Given the description of an element on the screen output the (x, y) to click on. 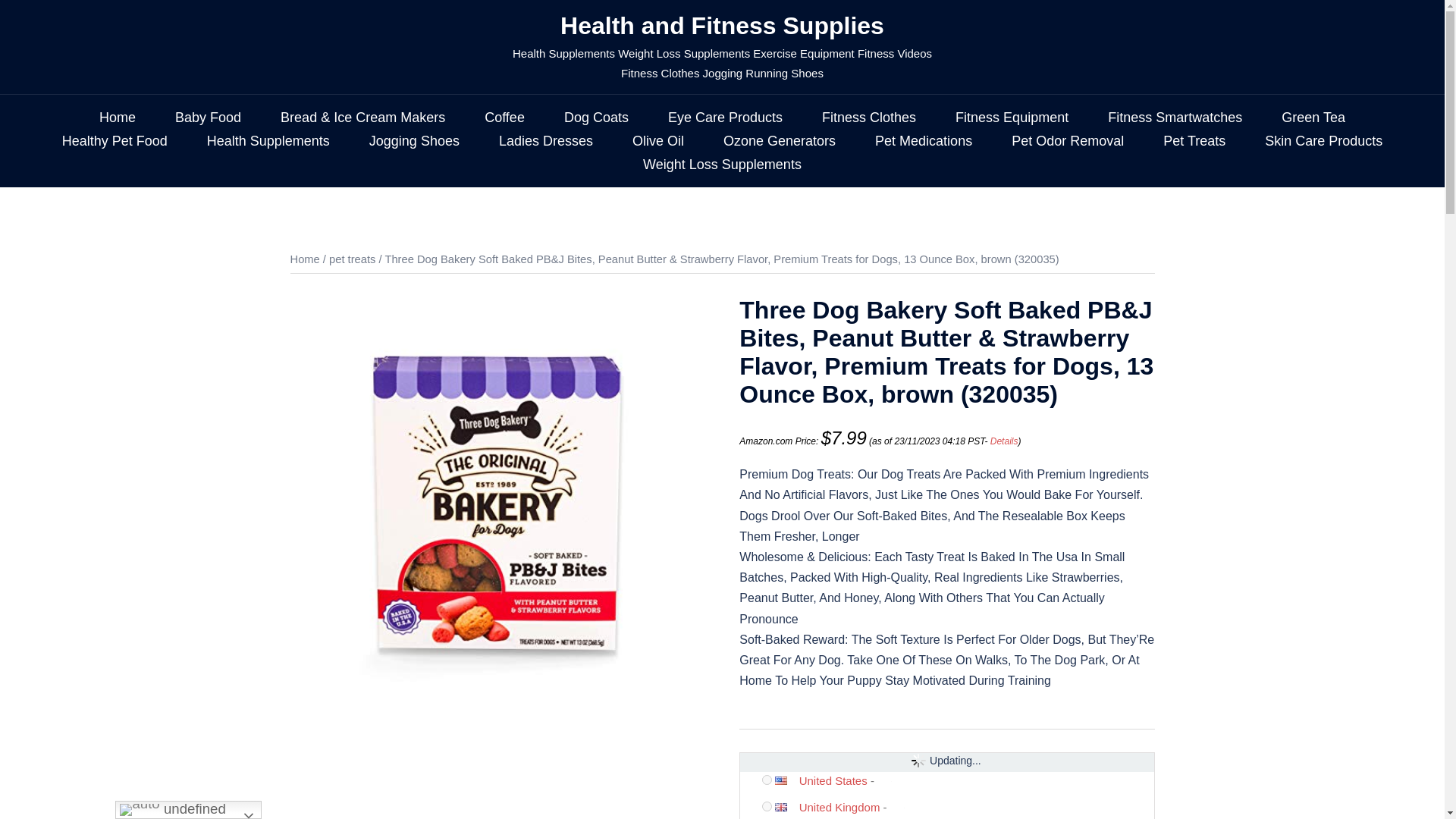
on (766, 779)
Fitness Smartwatches (1174, 117)
on (766, 806)
Eye Care Products (725, 117)
Baby Food (207, 117)
Coffee (504, 117)
Weight Loss Supplements (722, 164)
Pet Treats (1194, 141)
Olive Oil (657, 141)
United States (785, 780)
